Given the description of an element on the screen output the (x, y) to click on. 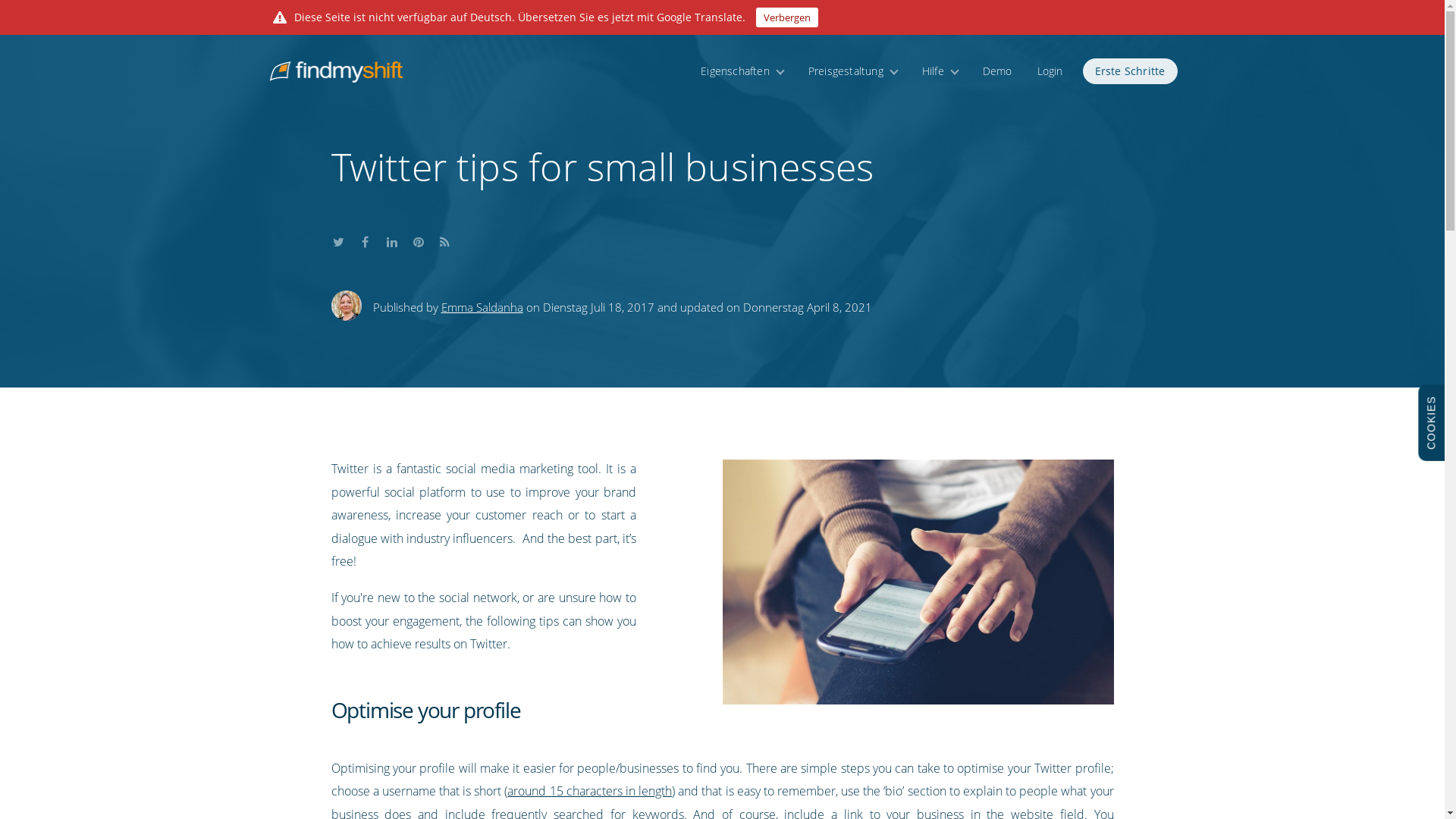
around 15 characters in length (588, 790)
Preisgestaltung (852, 70)
Share this on Pinterest (417, 238)
Share this on LinkedIn (391, 238)
Subscribe to our blog's RSS feed (445, 238)
Eigenschaften (741, 70)
Google Translate (699, 16)
Share this on Facebook (364, 238)
Home (328, 61)
Login (1050, 70)
